Given the description of an element on the screen output the (x, y) to click on. 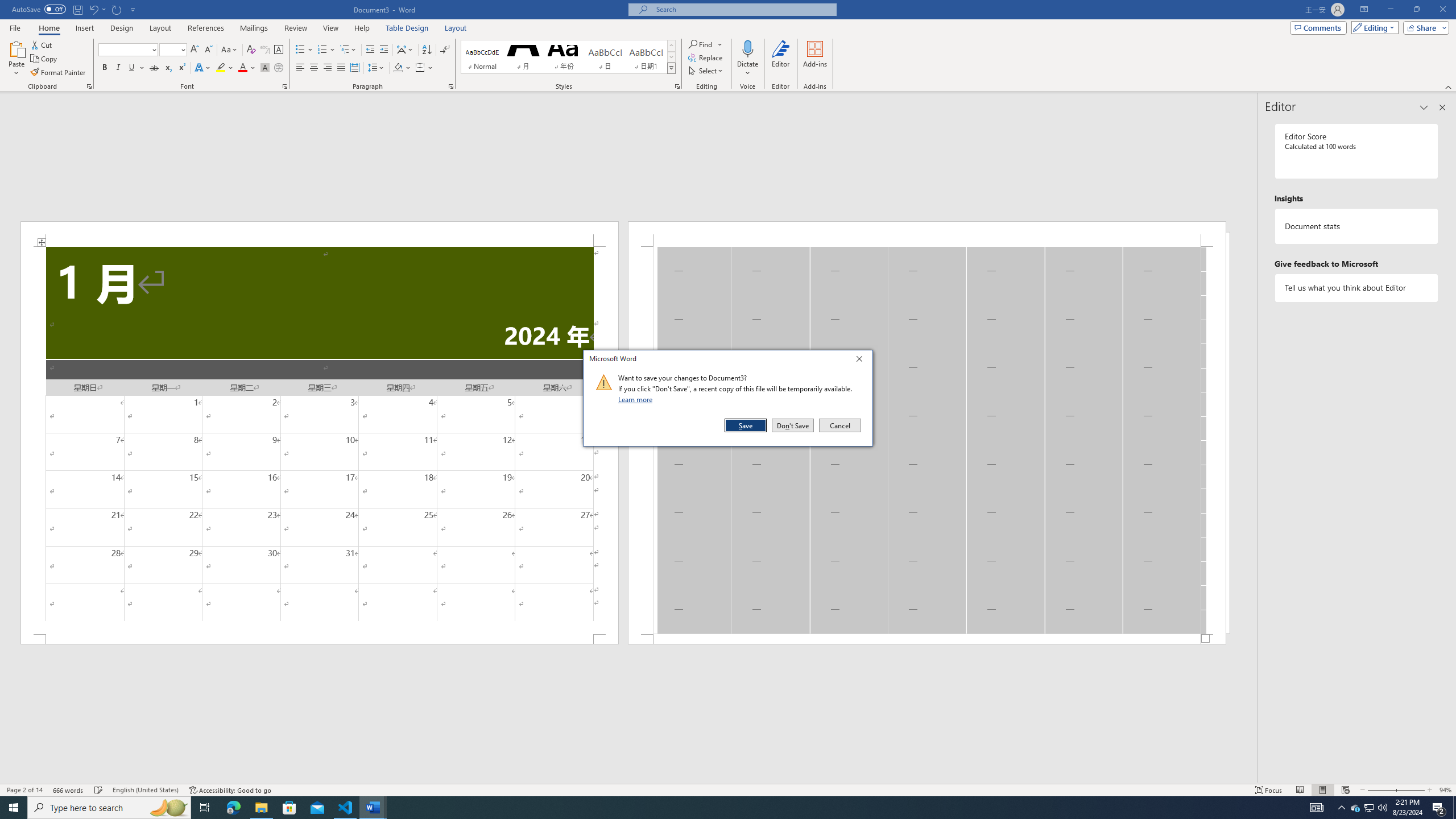
Footer -Section 1- (926, 638)
Bullets (300, 49)
Class: NetUIImage (603, 382)
Multilevel List (347, 49)
AutomationID: QuickStylesGallery (568, 56)
Strikethrough (154, 67)
Justify (340, 67)
Close pane (1441, 107)
Language English (United States) (145, 790)
Minimize (1390, 9)
Mailings (253, 28)
Customize Quick Access Toolbar (133, 9)
